Given the description of an element on the screen output the (x, y) to click on. 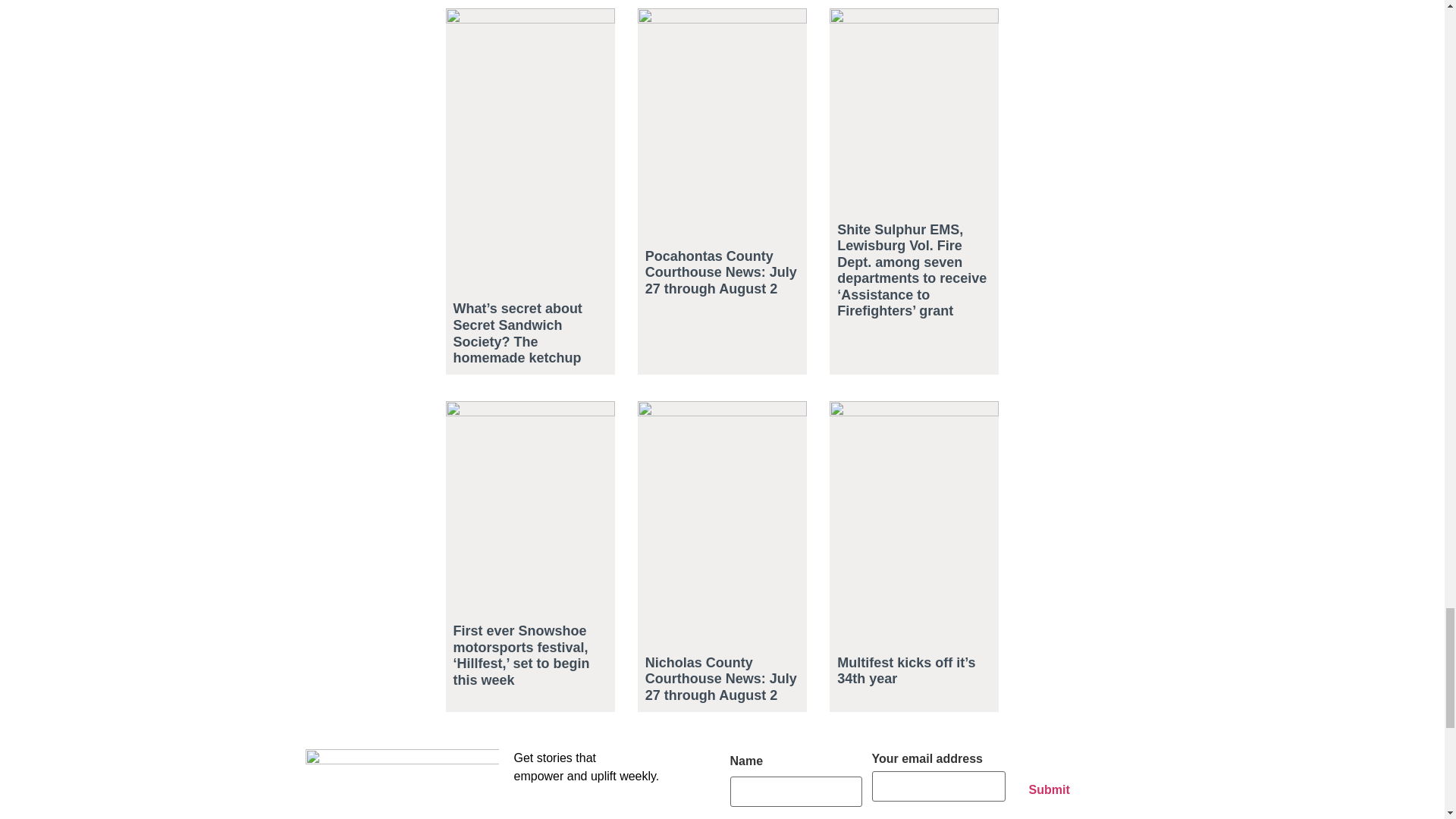
Pocahontas County Courthouse News: July 27 through August 2 (720, 272)
Submit (1048, 789)
Submit (1048, 789)
Nicholas County Courthouse News: July 27 through August 2 (720, 678)
